Given the description of an element on the screen output the (x, y) to click on. 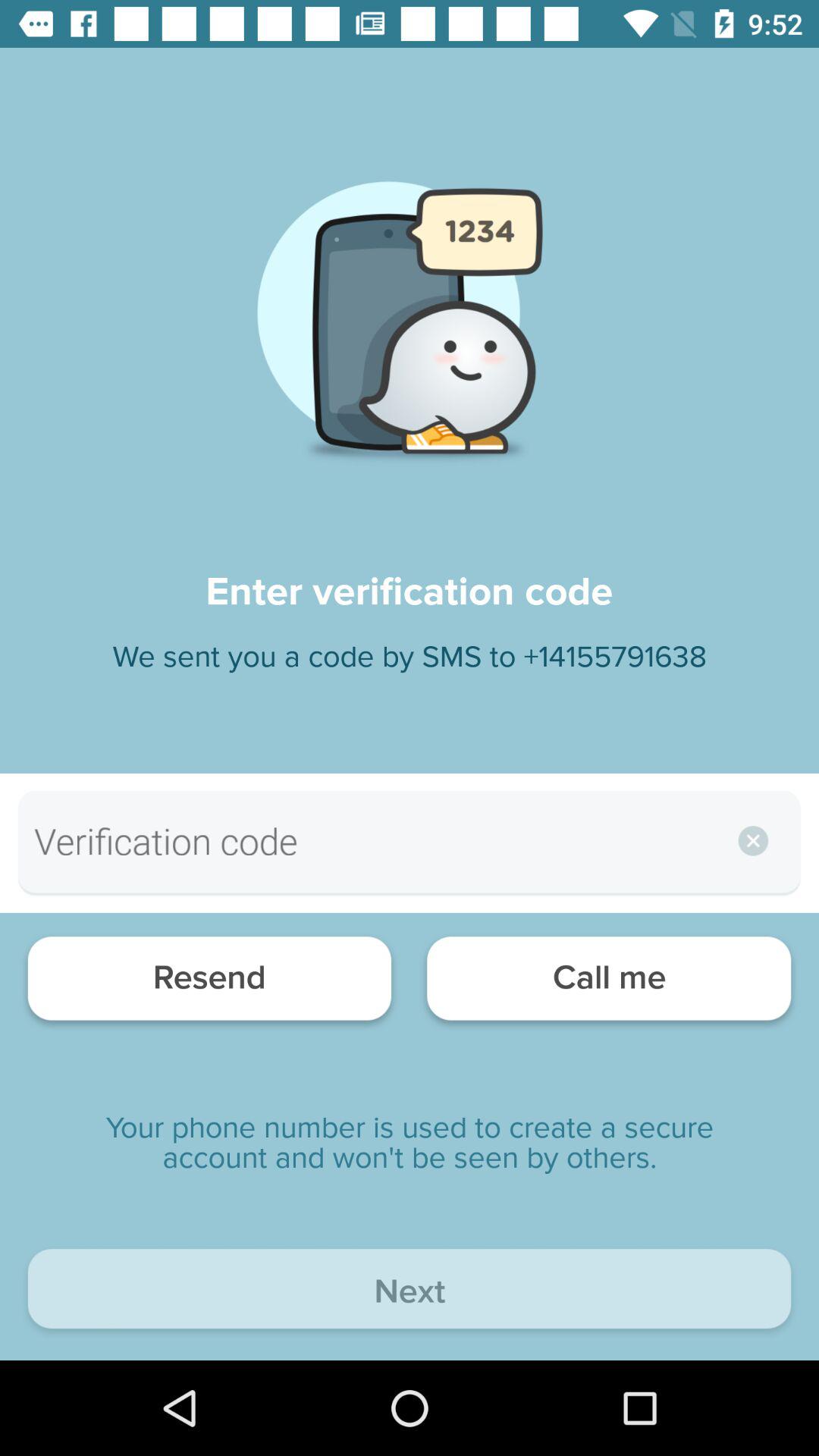
press the item above the your phone number icon (209, 982)
